Given the description of an element on the screen output the (x, y) to click on. 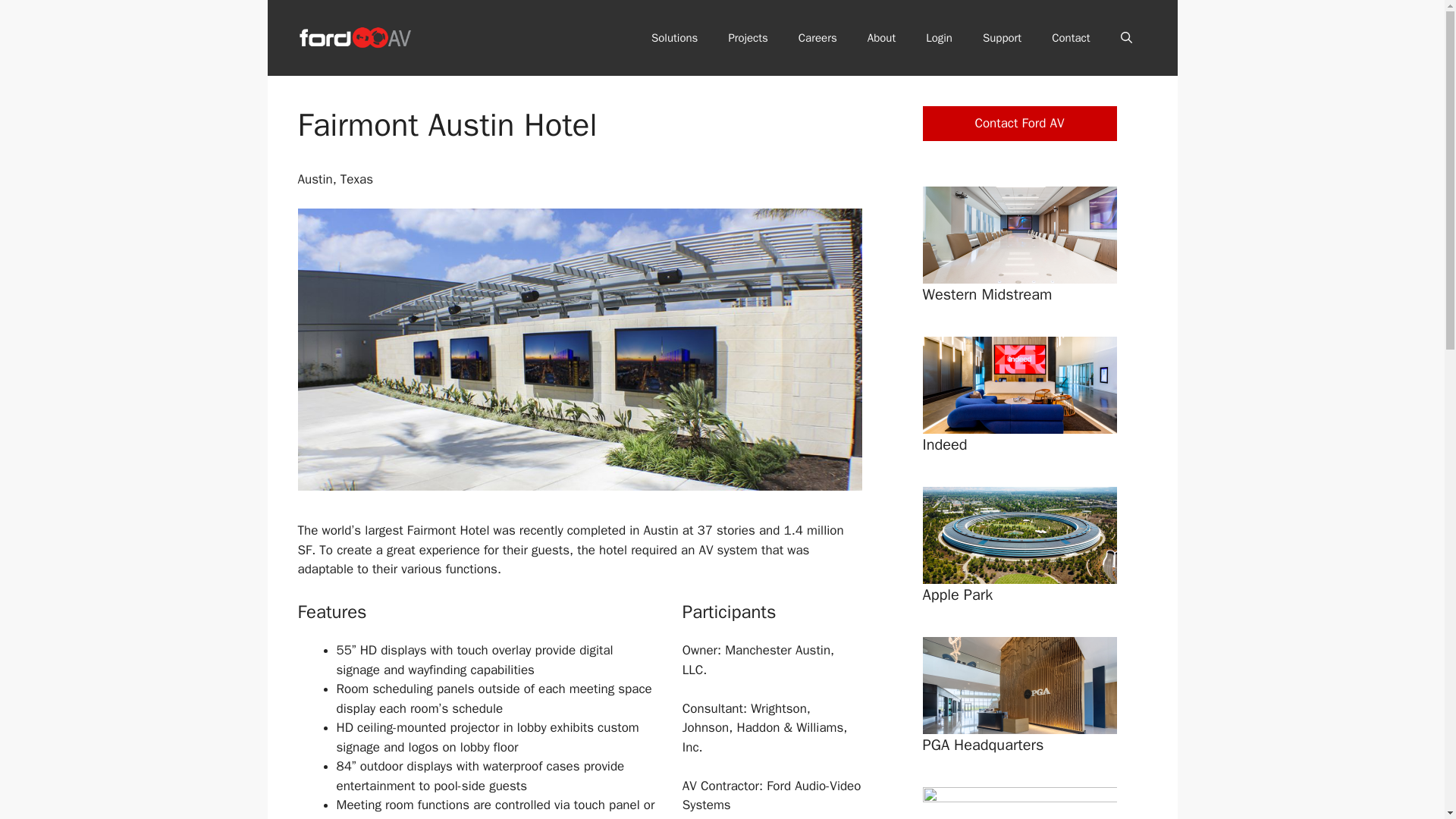
Apple Park (956, 594)
Contact (1070, 37)
PGA Headquarters (982, 744)
Projects (748, 37)
Solutions (674, 37)
Indeed (943, 444)
About (881, 37)
Careers (817, 37)
Contact Ford AV (1018, 123)
Western Midstream (986, 294)
